Given the description of an element on the screen output the (x, y) to click on. 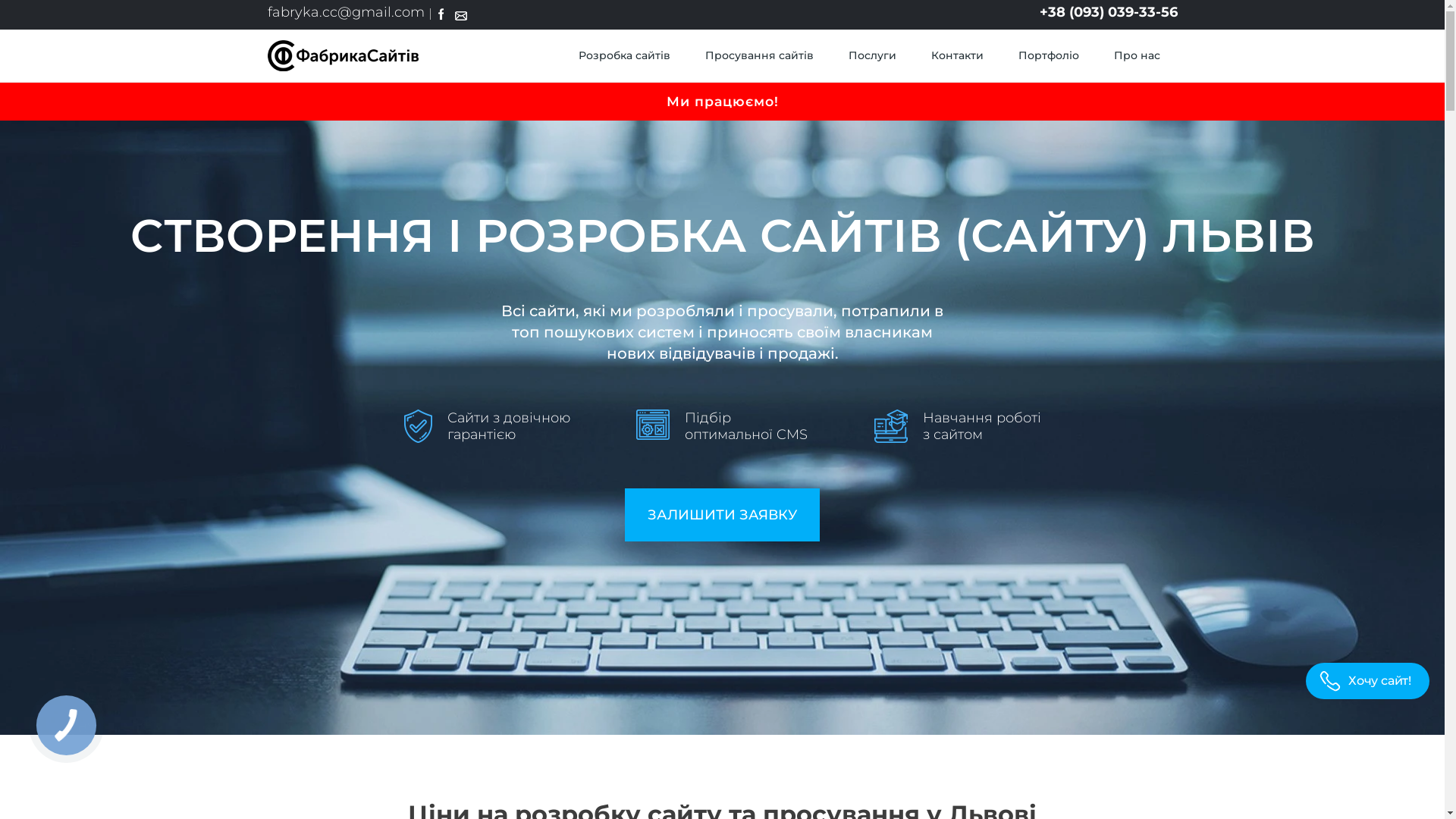
fabryka.cc@gmail.com Element type: text (344, 11)
Facebook Element type: text (439, 15)
Email Element type: text (461, 15)
+38 (093) 039-33-56 Element type: text (1107, 11)
